Given the description of an element on the screen output the (x, y) to click on. 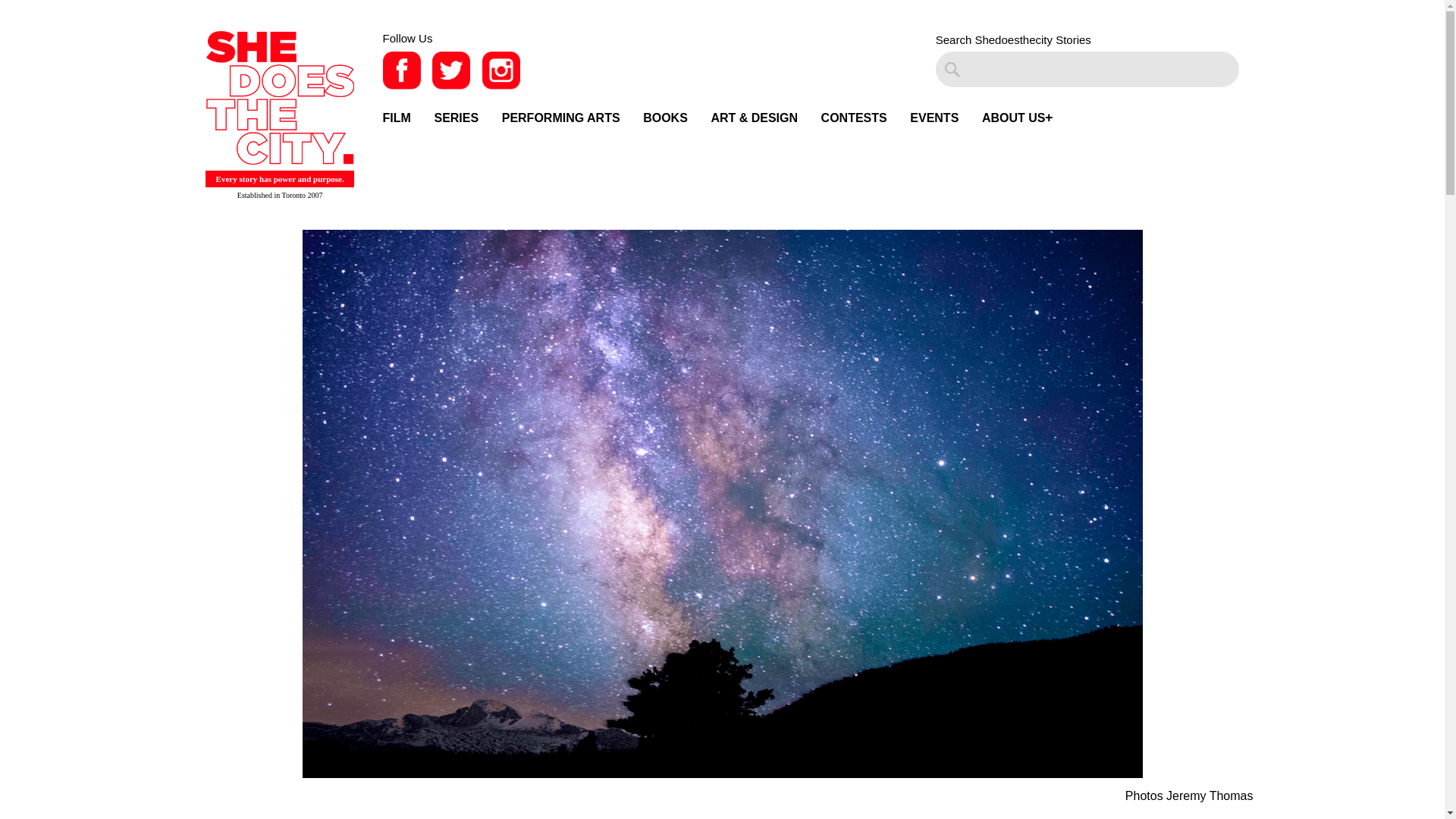
CONTESTS (853, 117)
ABOUT US (1013, 117)
PERFORMING ARTS (561, 117)
EVENTS (934, 117)
SERIES (456, 117)
BOOKS (665, 117)
FILM (396, 117)
